Given the description of an element on the screen output the (x, y) to click on. 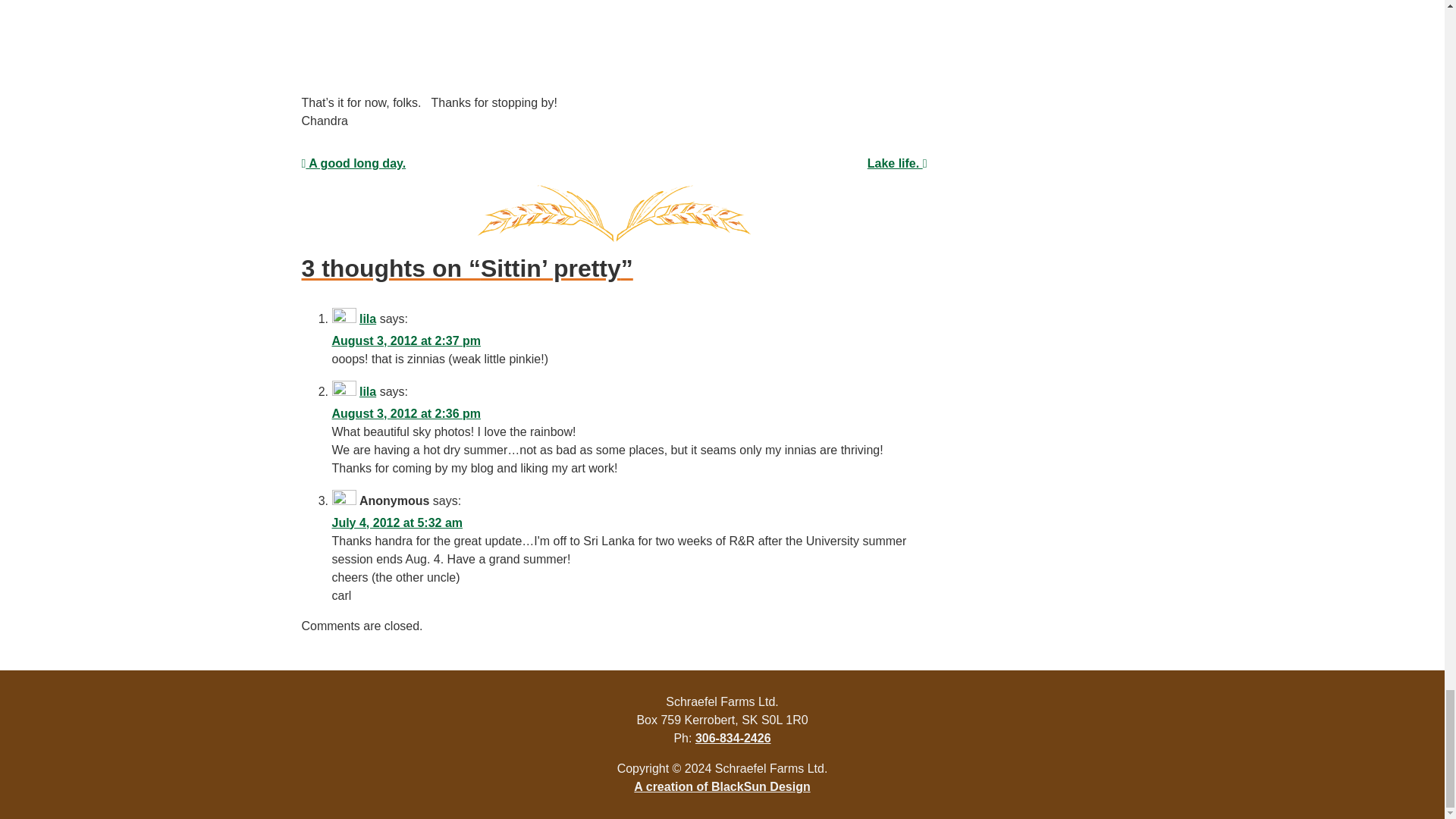
Lake life.  (897, 163)
 A good long day. (353, 163)
July 4, 2012 at 5:32 am (397, 522)
August 3, 2012 at 2:37 pm (406, 340)
lila (367, 391)
August 3, 2012 at 2:36 pm (406, 413)
lila (367, 318)
